Given the description of an element on the screen output the (x, y) to click on. 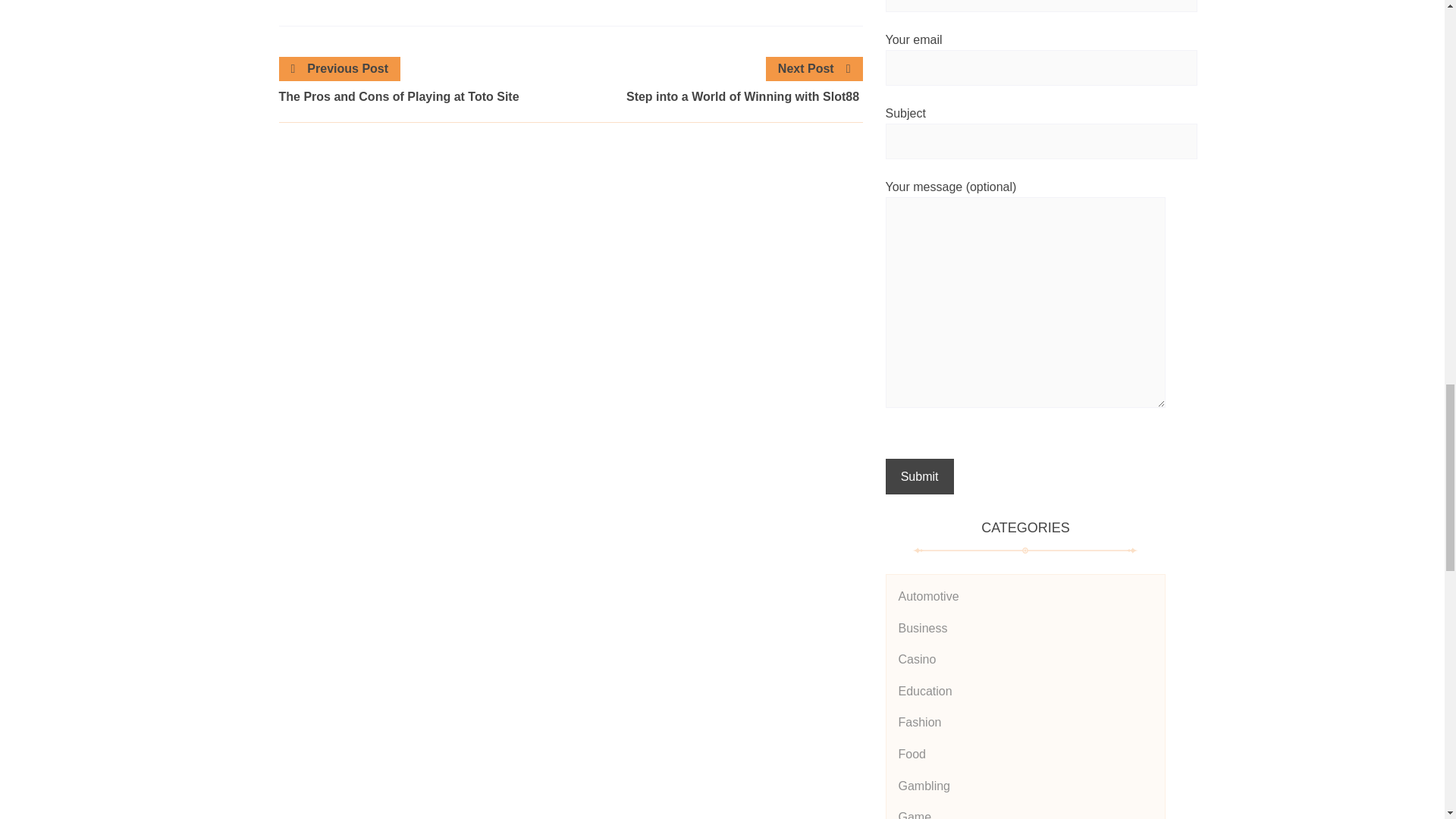
Next Post (813, 68)
Business (922, 627)
Step into a World of Winning with Slot88  (715, 96)
Submit (919, 476)
Previous Post (339, 68)
Automotive (928, 595)
Casino (917, 658)
The Pros and Cons of Playing at Toto Site (424, 96)
Submit (919, 476)
